Given the description of an element on the screen output the (x, y) to click on. 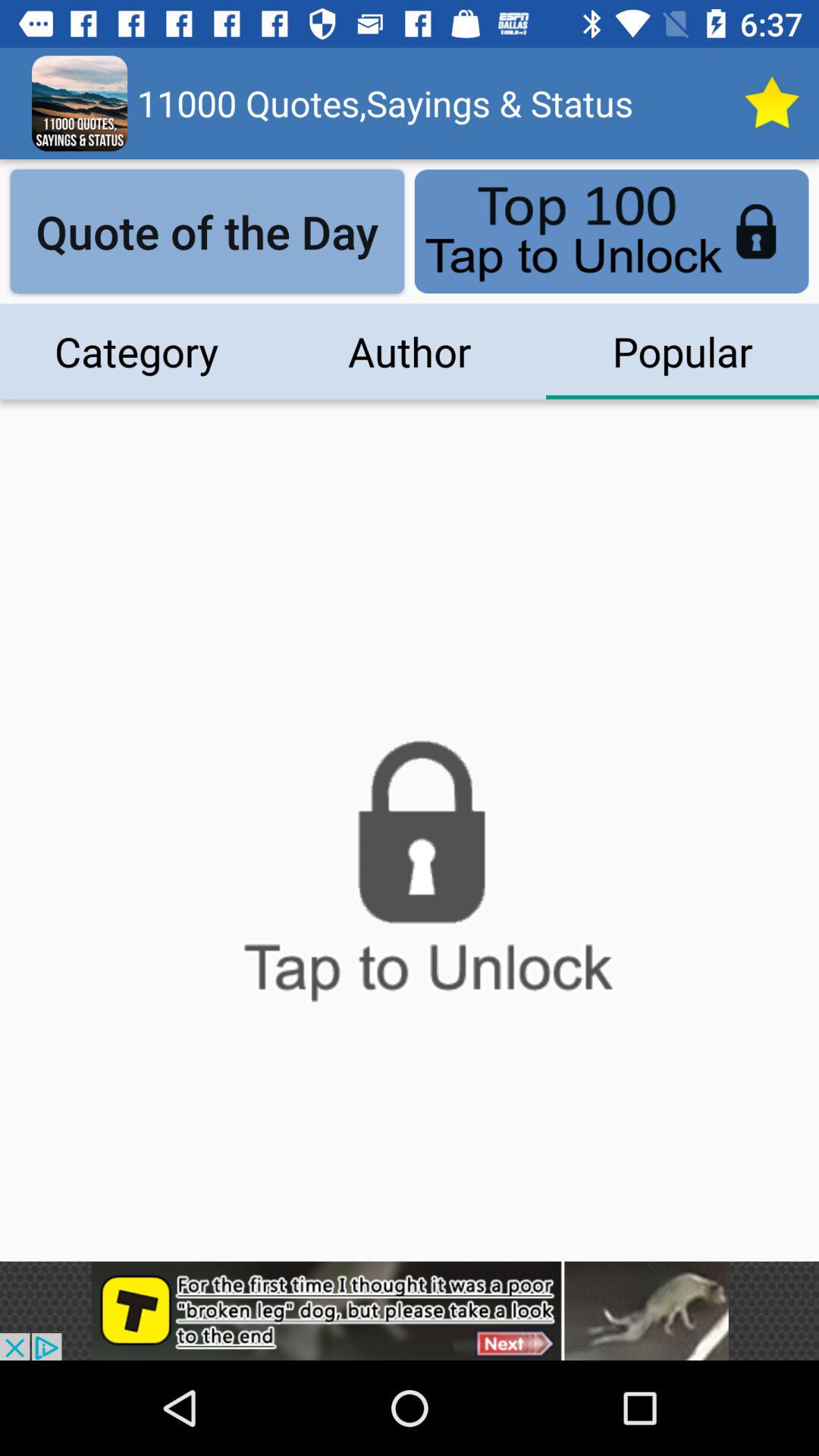
favorite selected element (771, 103)
